Given the description of an element on the screen output the (x, y) to click on. 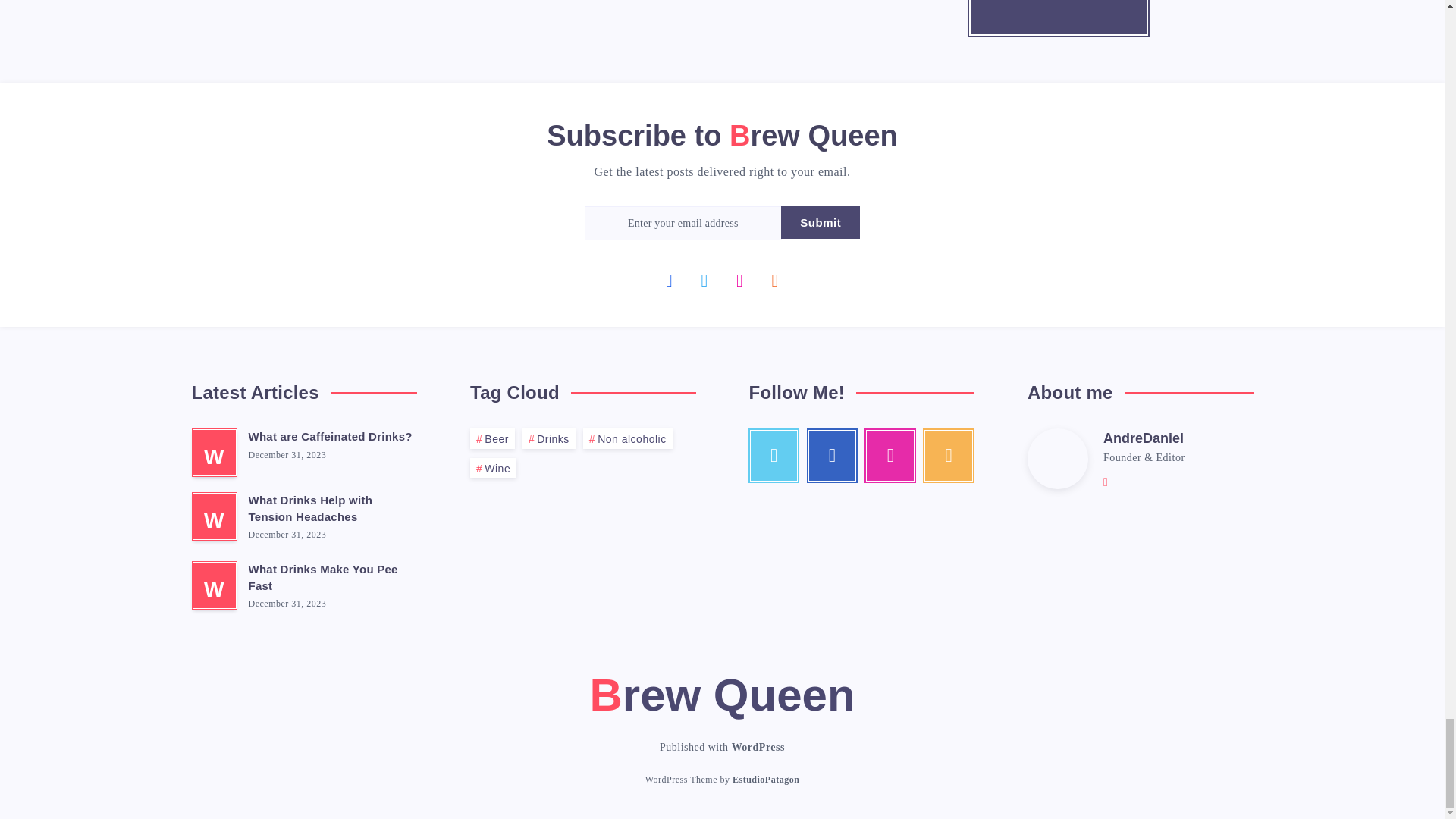
Powered with Maktub (765, 780)
